Given the description of an element on the screen output the (x, y) to click on. 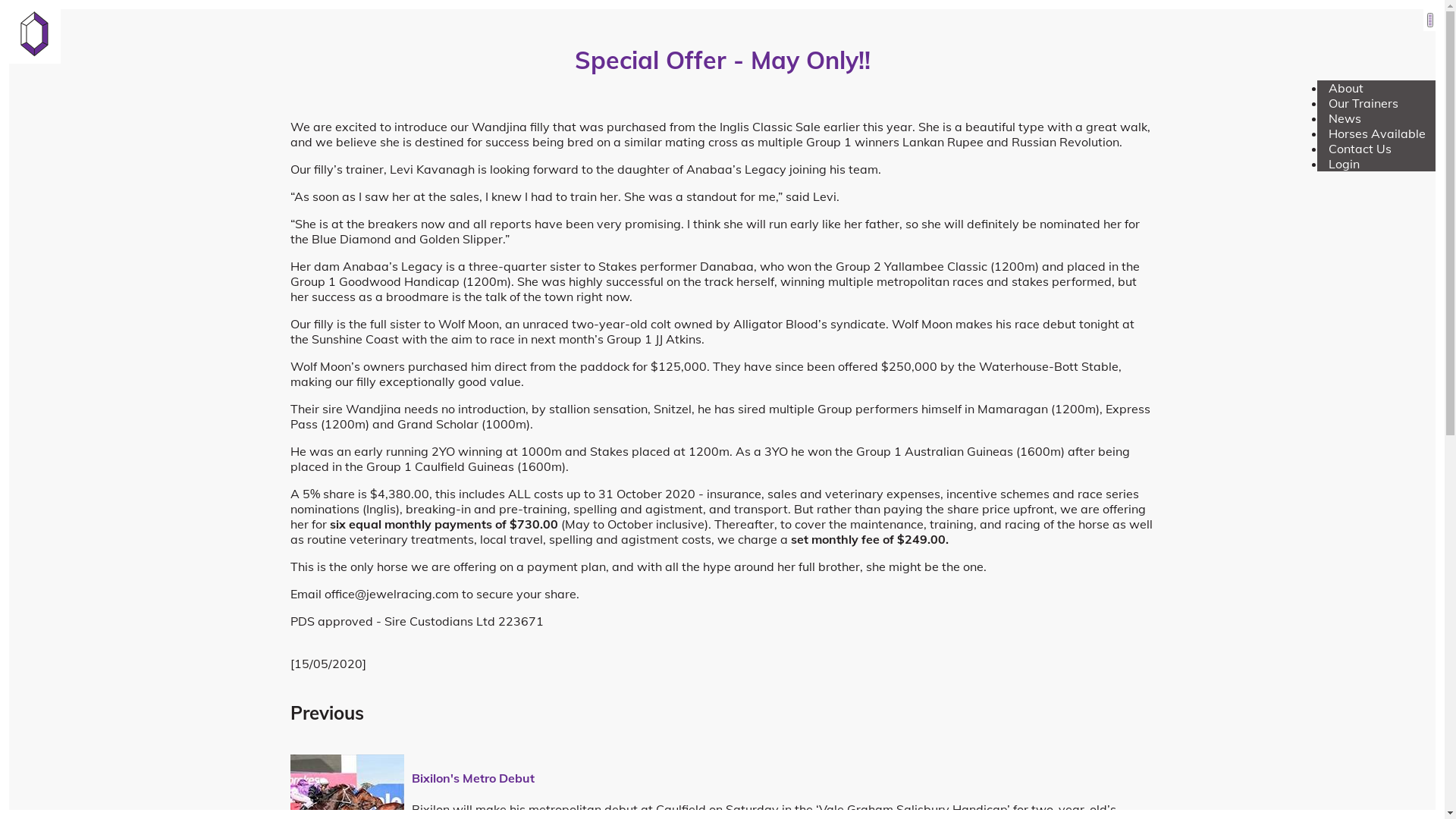
  Element type: text (1430, 19)
About Element type: text (1345, 87)
Horses Available Element type: text (1376, 133)
Login Element type: text (1343, 163)
Bixilon's Metro Debut Element type: text (472, 777)
Our Trainers Element type: text (1363, 102)
News Element type: text (1344, 117)
Contact Us Element type: text (1359, 148)
